Given the description of an element on the screen output the (x, y) to click on. 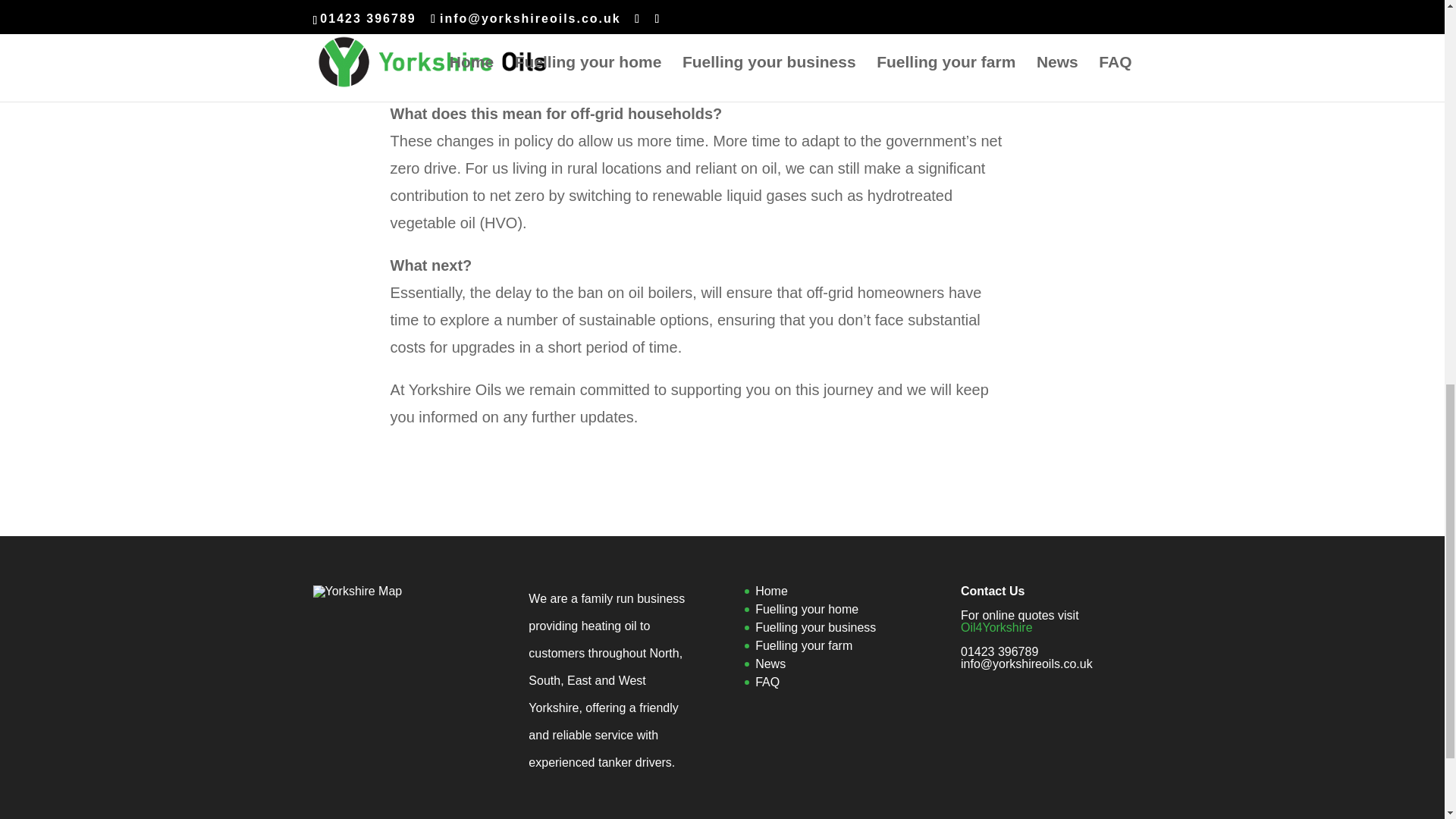
Fuelling your business (815, 626)
Home (771, 590)
FAQ (766, 681)
Oil4Yorkshire (996, 626)
Fuelling your farm (803, 645)
Fuelling your home (807, 608)
01423 396789 (999, 651)
News (770, 663)
